Given the description of an element on the screen output the (x, y) to click on. 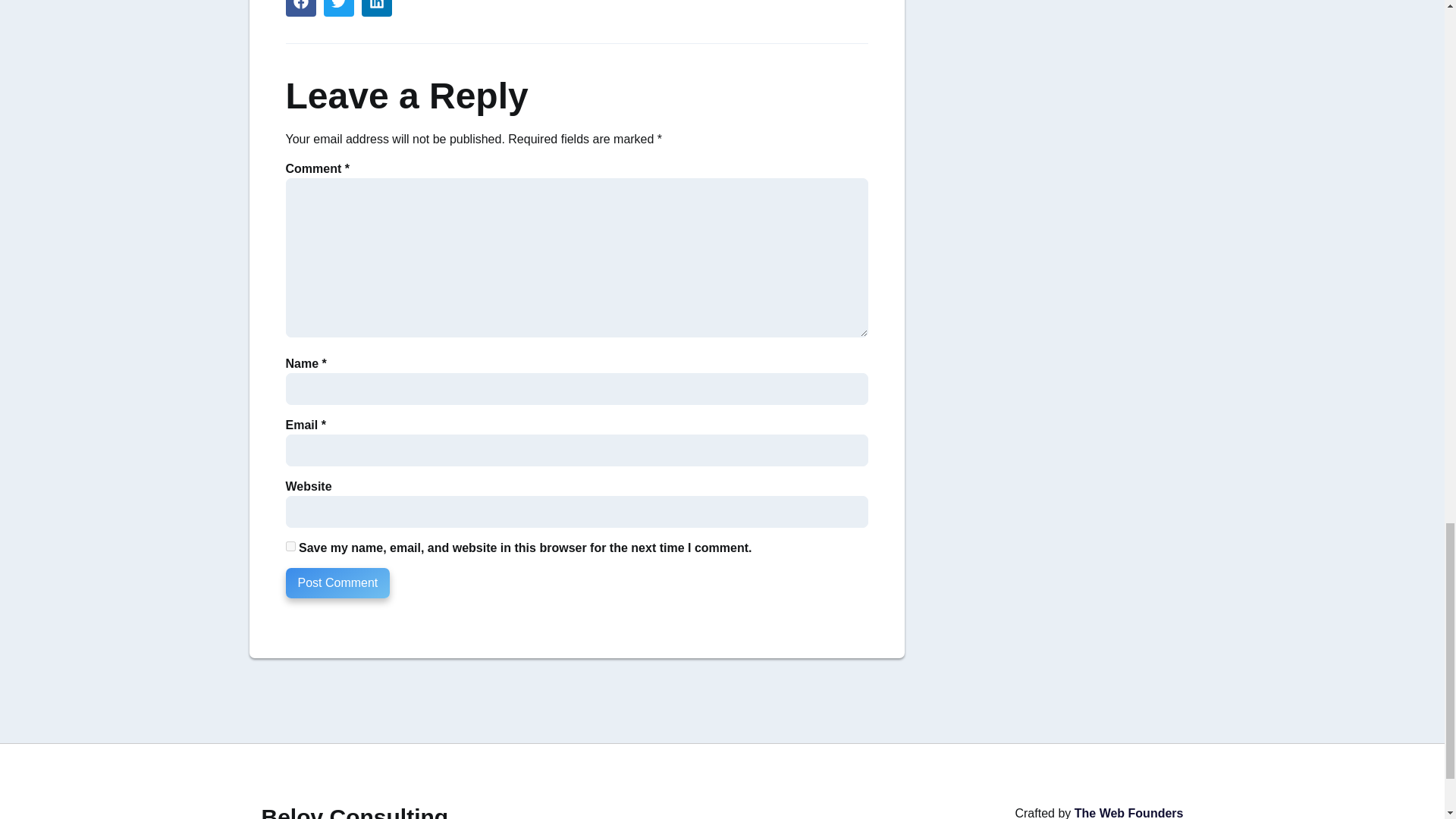
yes (290, 546)
Post Comment (337, 583)
